Given the description of an element on the screen output the (x, y) to click on. 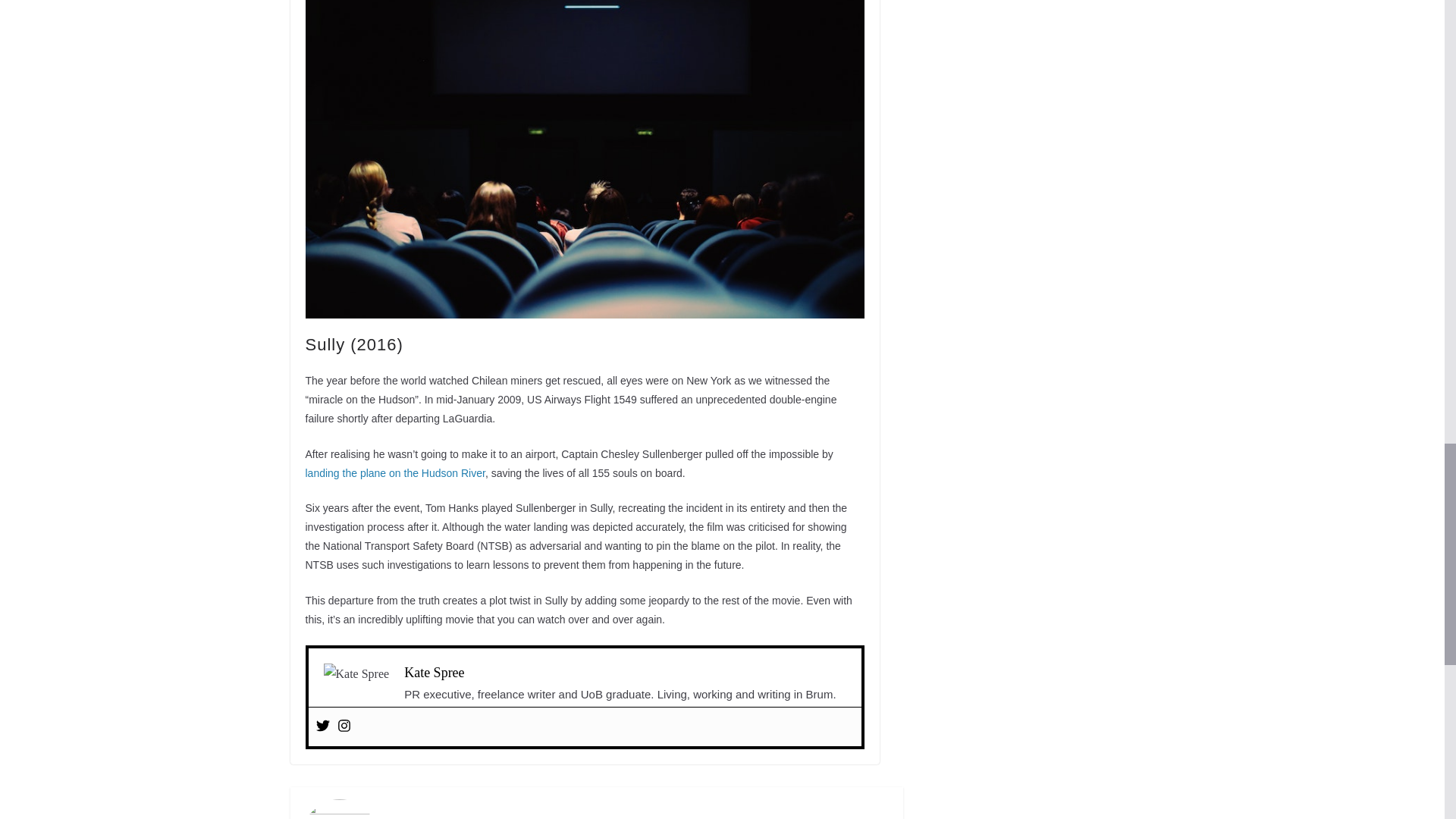
Kate Spree (434, 672)
landing the plane on the Hudson River (394, 472)
